Given the description of an element on the screen output the (x, y) to click on. 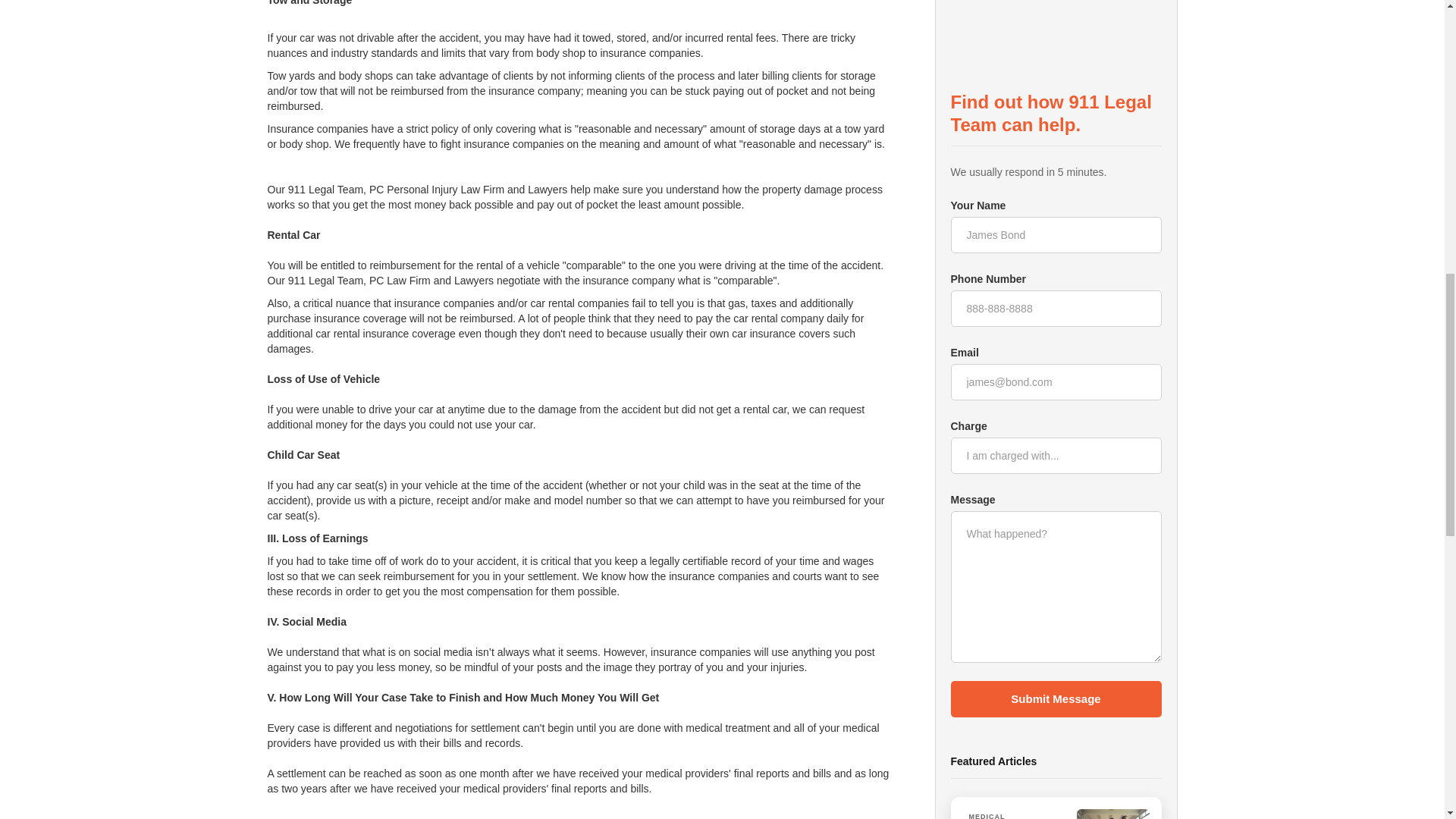
Submit Message (1055, 123)
Submit Message (1055, 504)
